Given the description of an element on the screen output the (x, y) to click on. 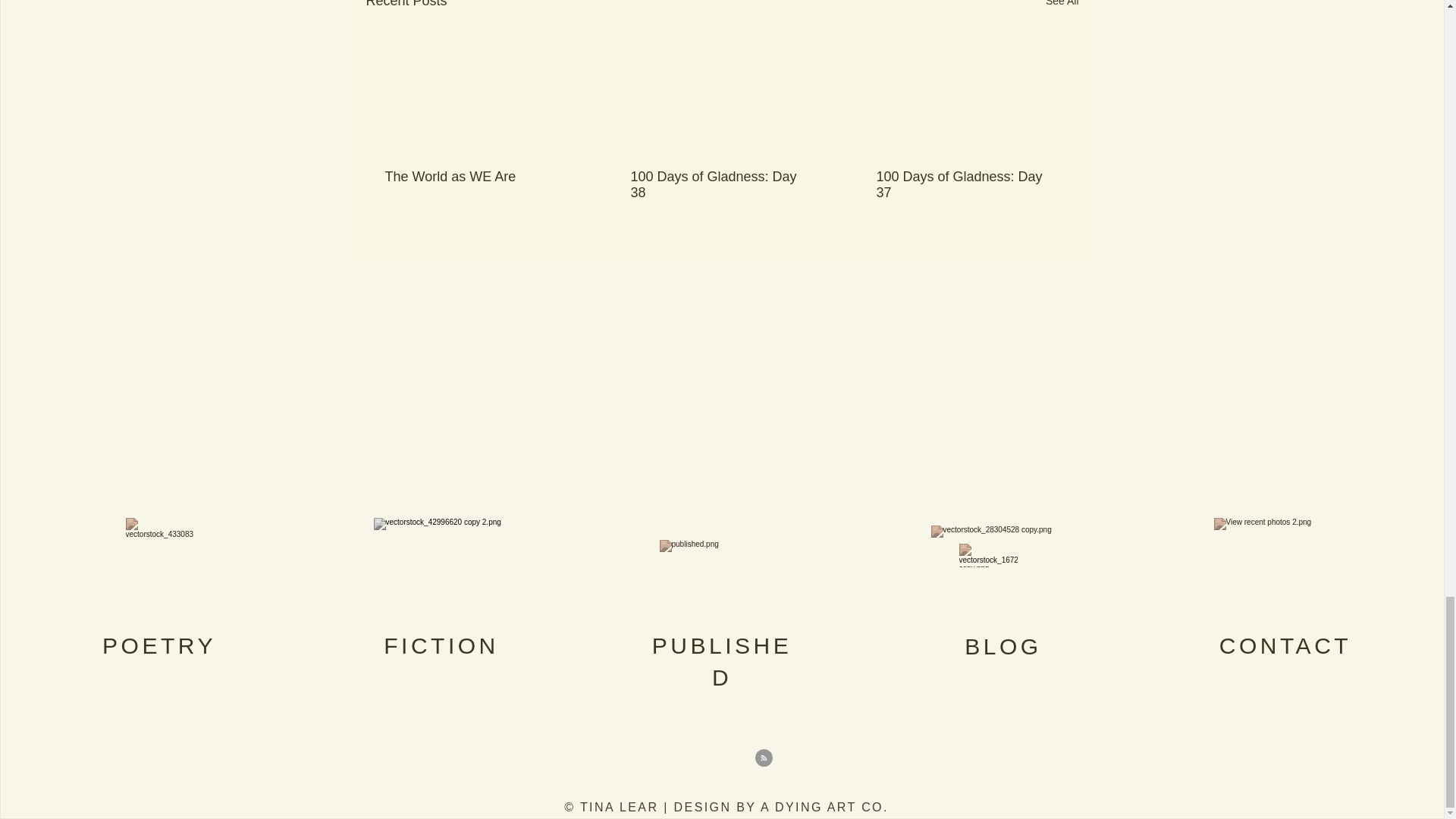
POETRY (158, 645)
See All (1061, 6)
PUBLISHED (722, 661)
100 Days of Gladness: Day 38 (721, 184)
100 Days of Gladness: Day 37 (967, 184)
BLOG (1002, 646)
FICTION (441, 645)
The World as WE Are (476, 176)
